Given the description of an element on the screen output the (x, y) to click on. 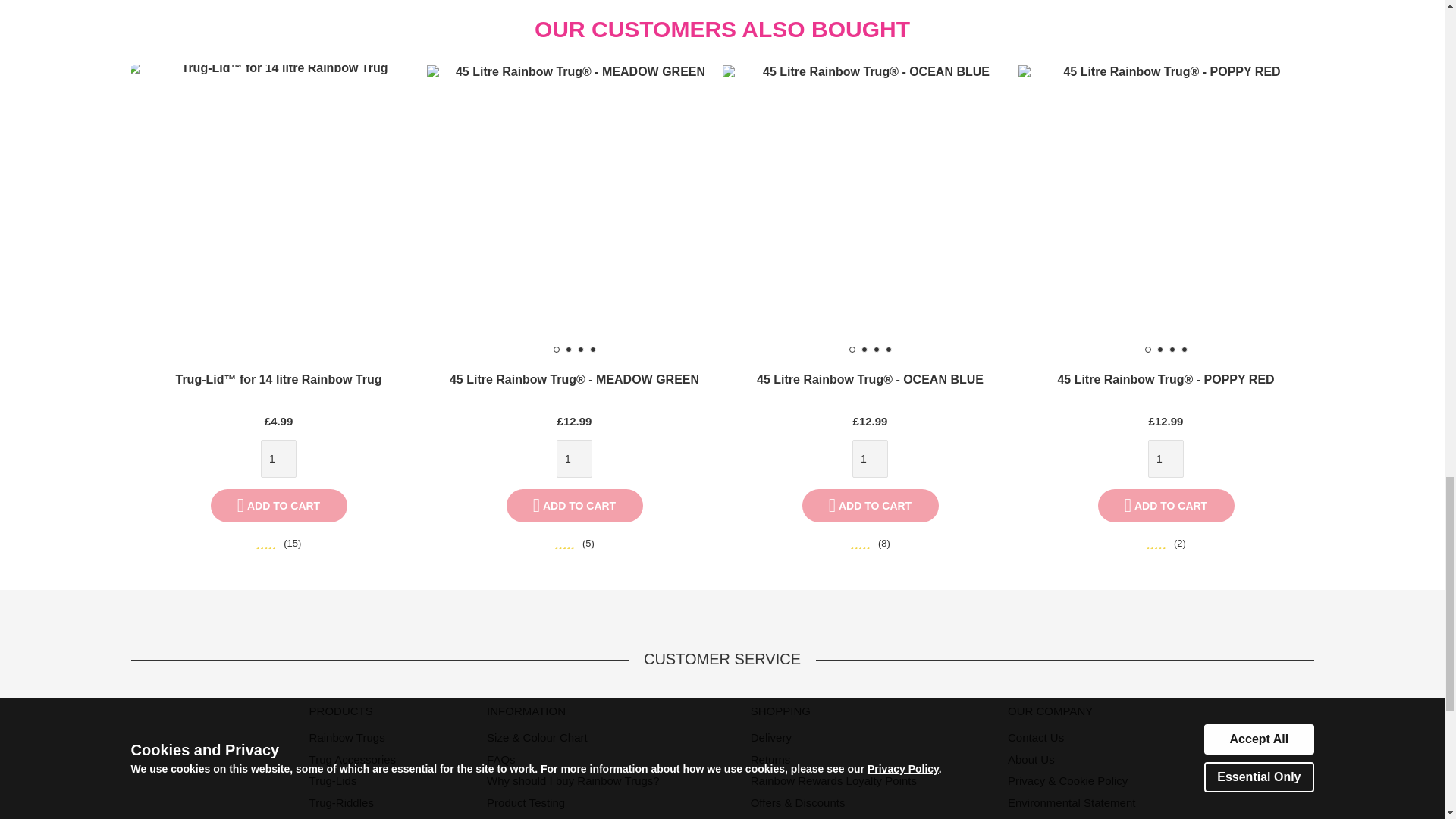
1 (1165, 458)
1 (574, 458)
1 (278, 458)
1 (869, 458)
